Given the description of an element on the screen output the (x, y) to click on. 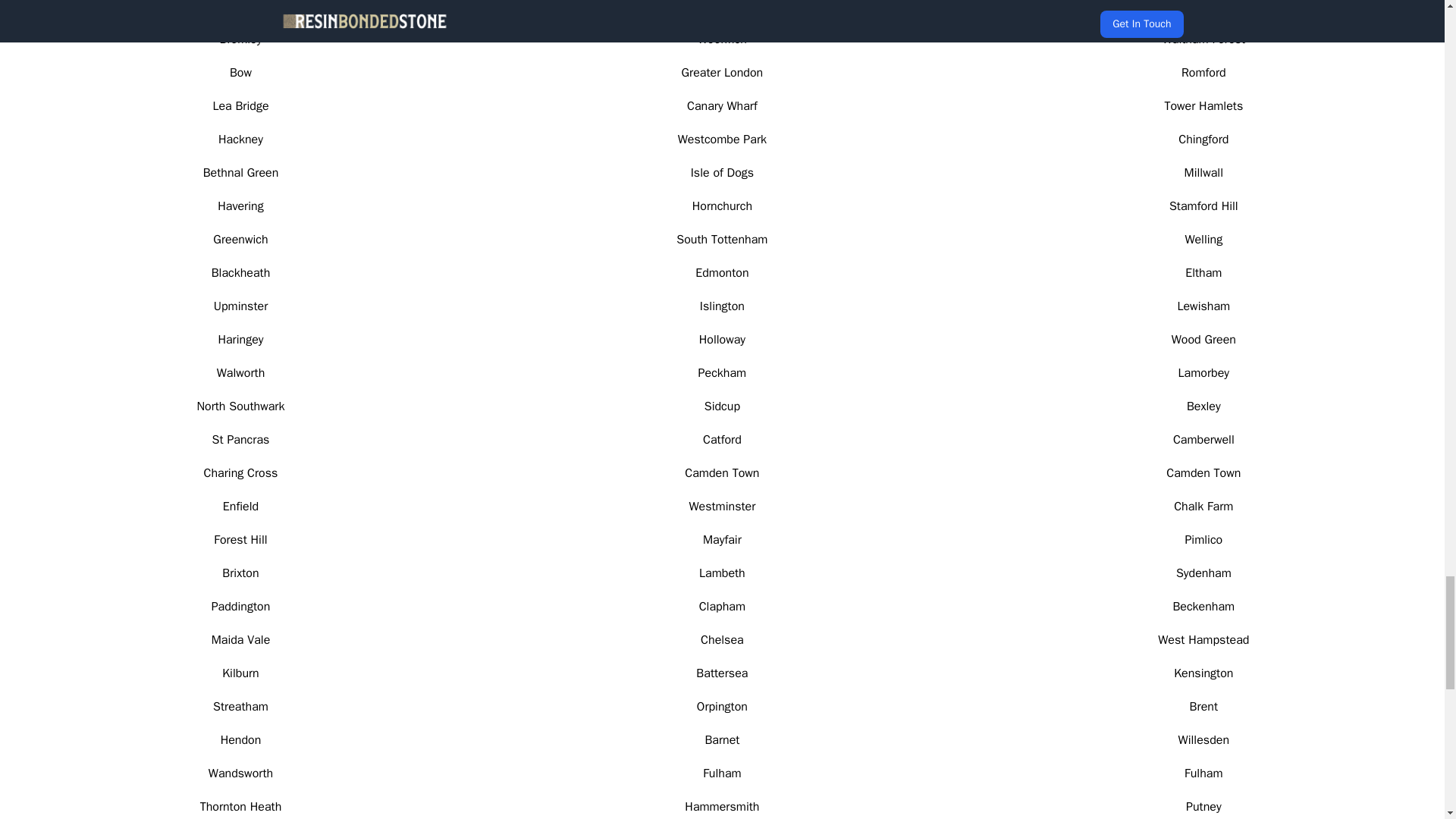
Dagenham (722, 6)
Walthamstow (240, 6)
Bromley (240, 38)
Thamesmead (1203, 6)
